Given the description of an element on the screen output the (x, y) to click on. 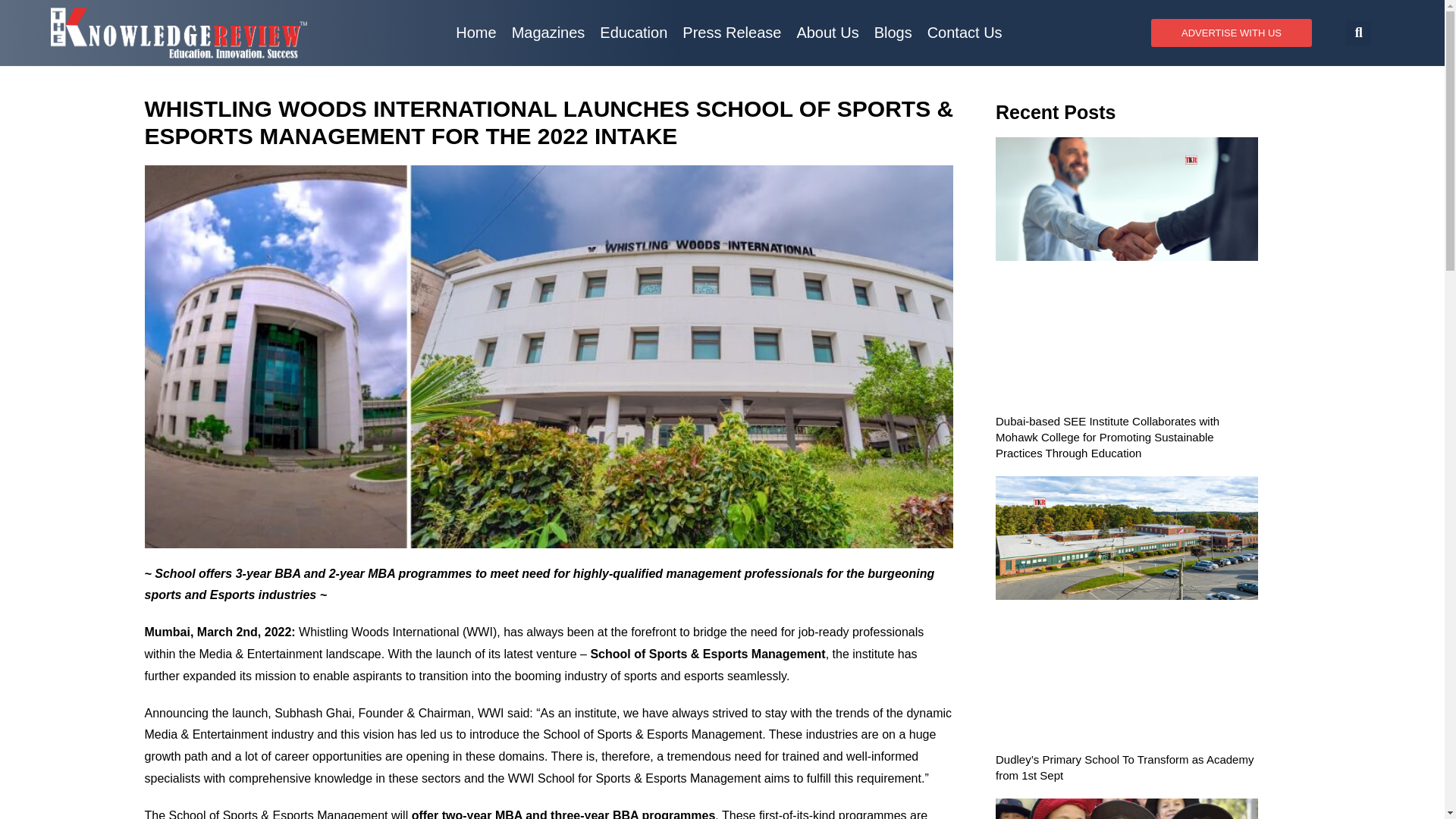
Home (475, 32)
ADVERTISE WITH US (1232, 32)
Blogs (893, 32)
Contact Us (965, 32)
About Us (827, 32)
Magazines (547, 32)
Education (633, 32)
Press Release (732, 32)
